Given the description of an element on the screen output the (x, y) to click on. 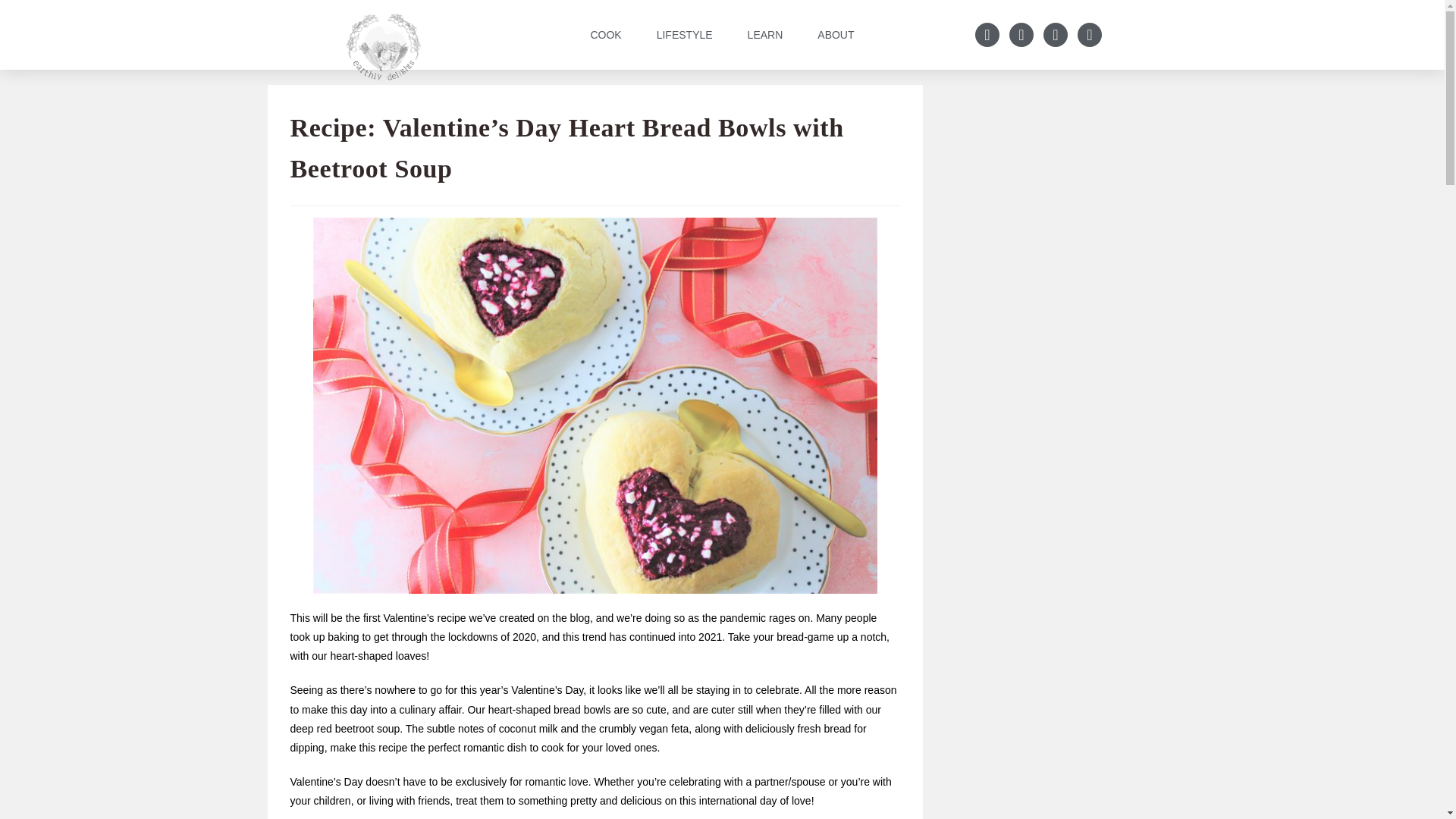
ABOUT (835, 34)
LEARN (764, 34)
LIFESTYLE (685, 34)
